Given the description of an element on the screen output the (x, y) to click on. 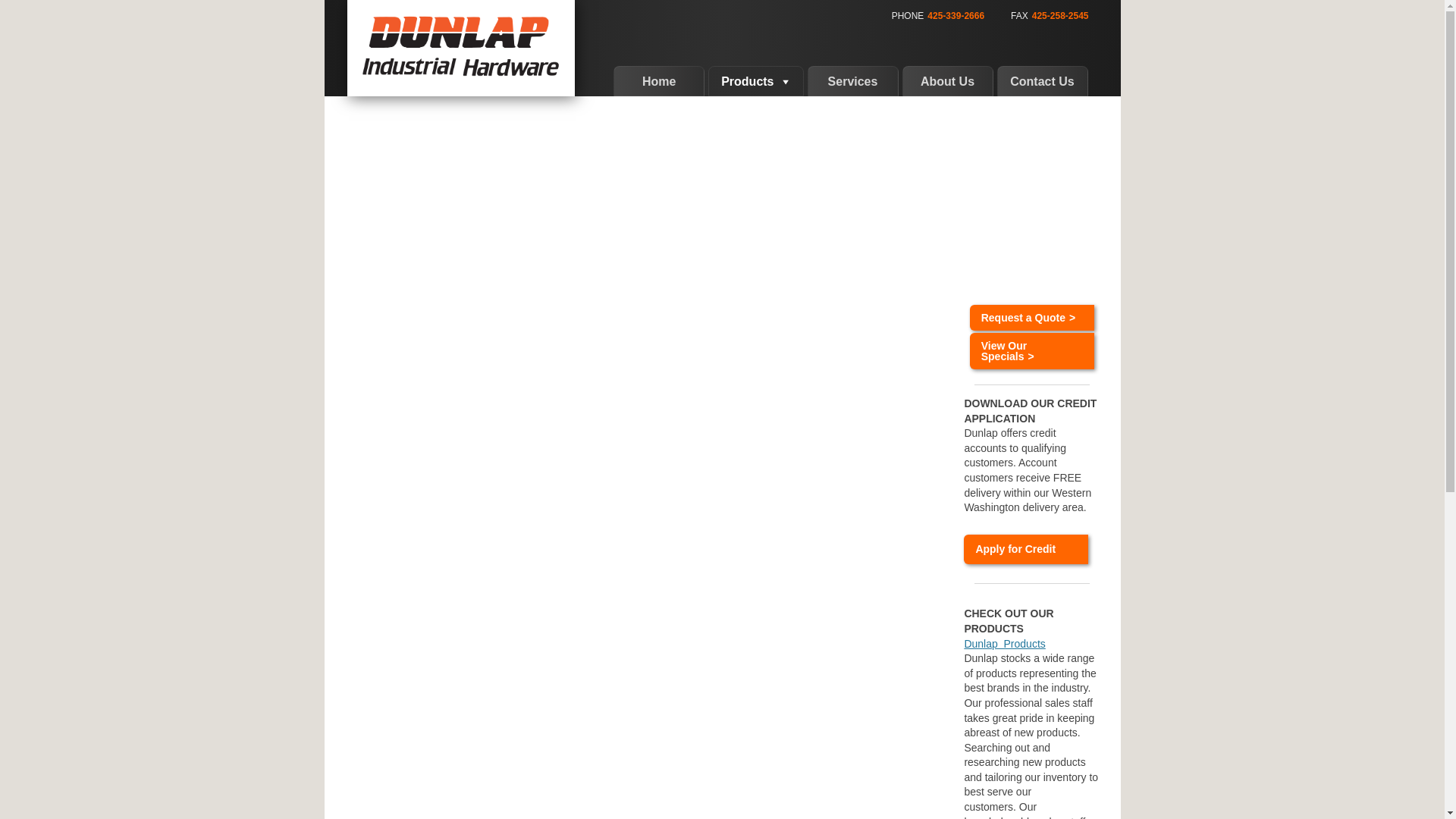
Request a Quote (1031, 317)
About Us (947, 81)
View Our Specials (1031, 350)
425-258-2545 (1060, 15)
Services (852, 81)
Contact Us (1041, 81)
Dunlap Industrial (461, 48)
Dunlap  Products (1004, 644)
425-339-2666 (955, 15)
Apply for Credit (1025, 549)
Home (658, 81)
Products (755, 81)
